Given the description of an element on the screen output the (x, y) to click on. 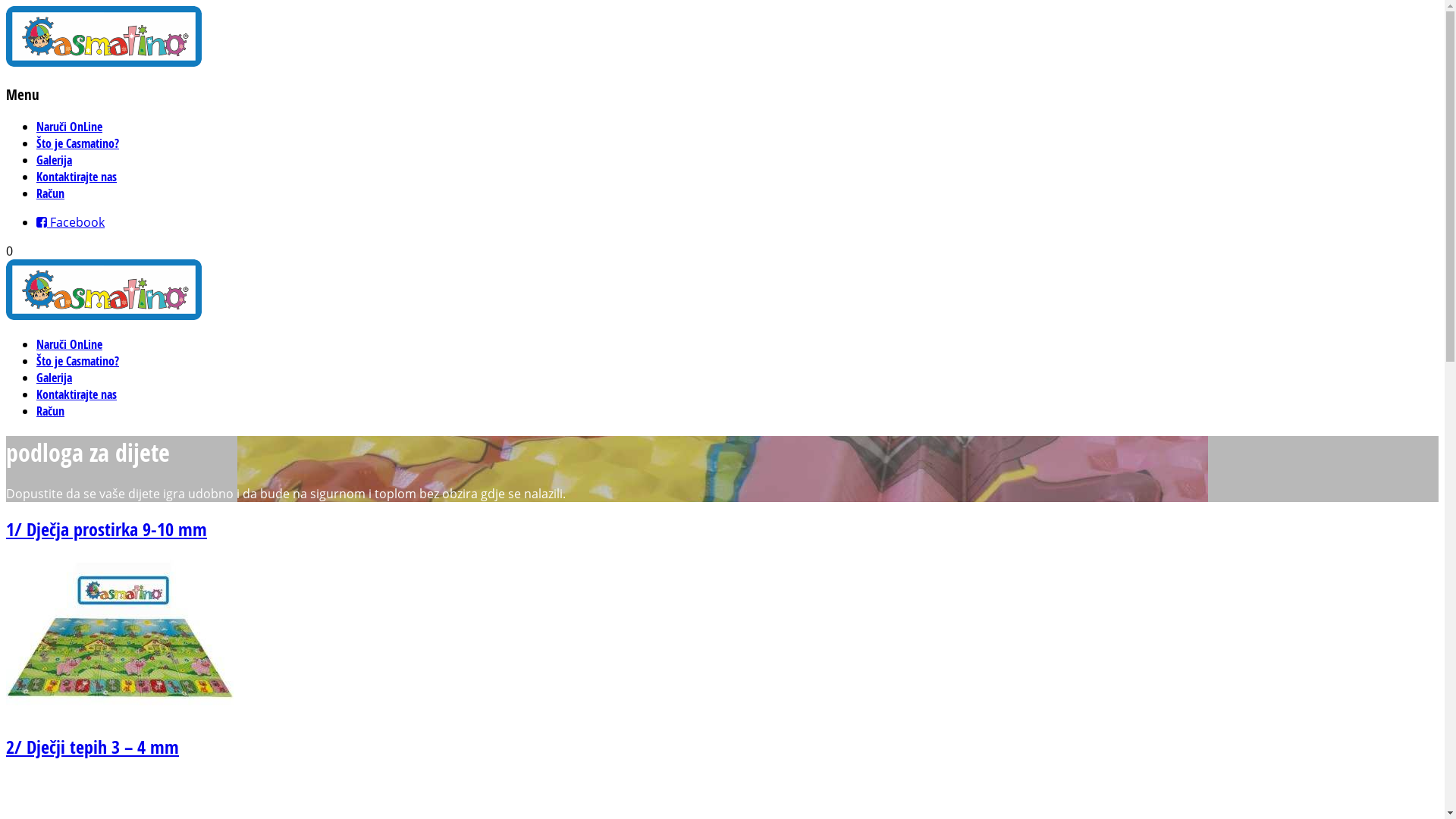
Kontaktirajte nas Element type: text (76, 176)
Facebook Element type: text (70, 221)
Galerija Element type: text (54, 377)
Kontaktirajte nas Element type: text (76, 393)
Galerija Element type: text (54, 159)
Casmatino Element type: hover (103, 61)
Casmatino Element type: hover (103, 315)
